Given the description of an element on the screen output the (x, y) to click on. 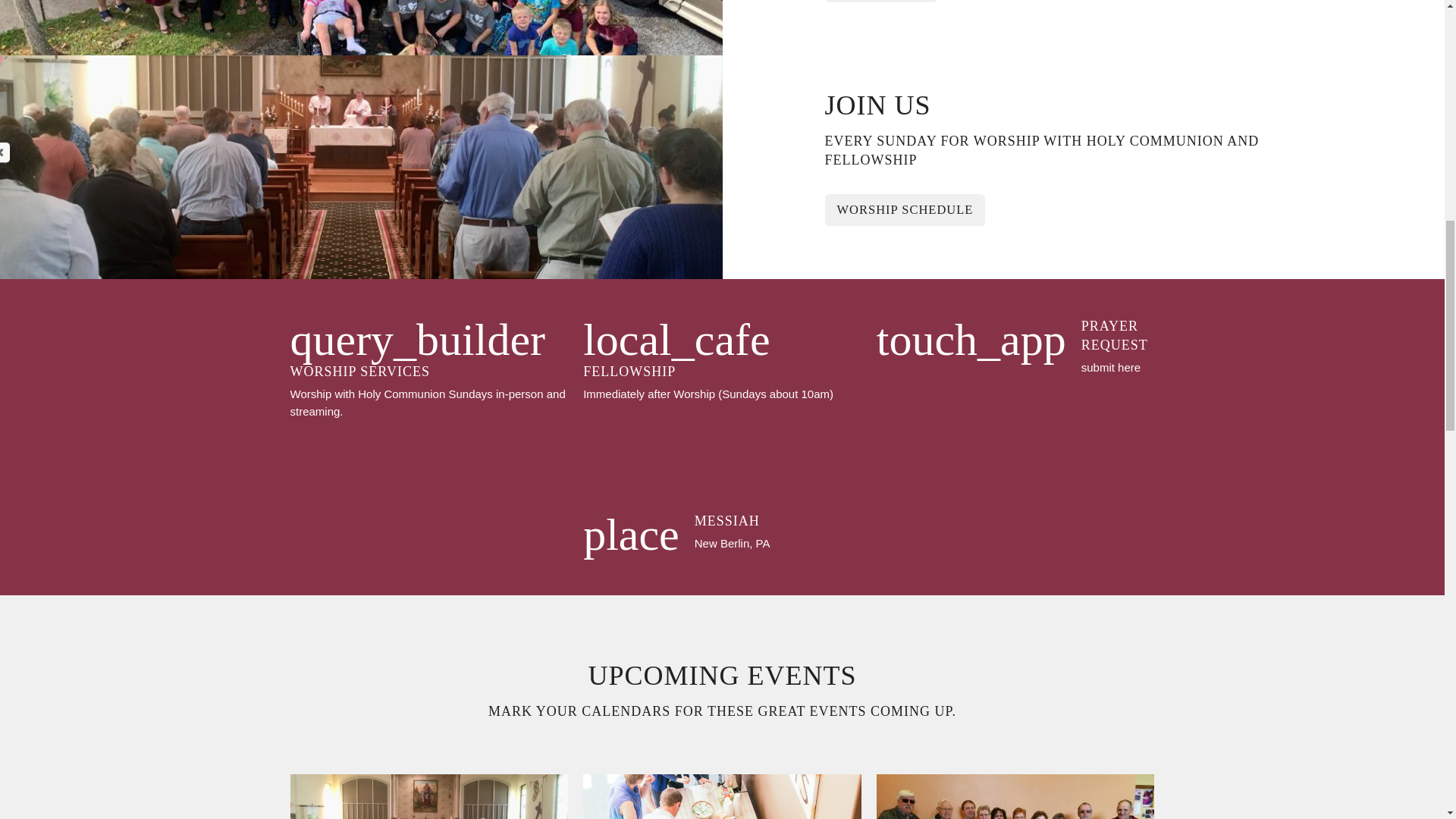
WORSHIP SCHEDULE (905, 210)
LEARN MORE (722, 534)
